Given the description of an element on the screen output the (x, y) to click on. 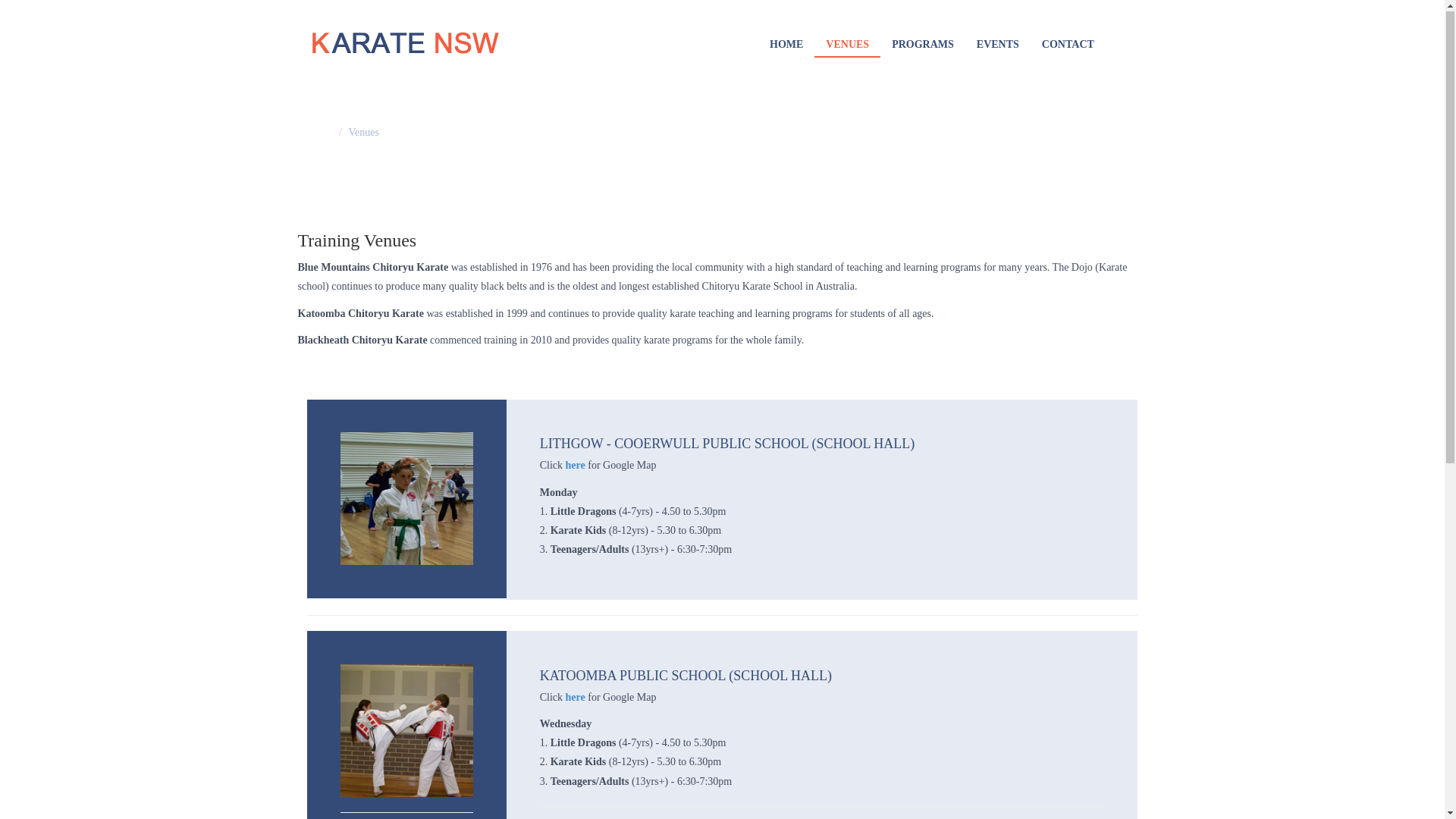
PROGRAMS Element type: text (922, 45)
EVENTS Element type: text (997, 45)
CONTACT Element type: text (1067, 45)
VENUES Element type: text (847, 46)
Home Element type: text (319, 132)
HOME Element type: text (786, 45)
here Element type: text (575, 697)
here Element type: text (575, 465)
